Given the description of an element on the screen output the (x, y) to click on. 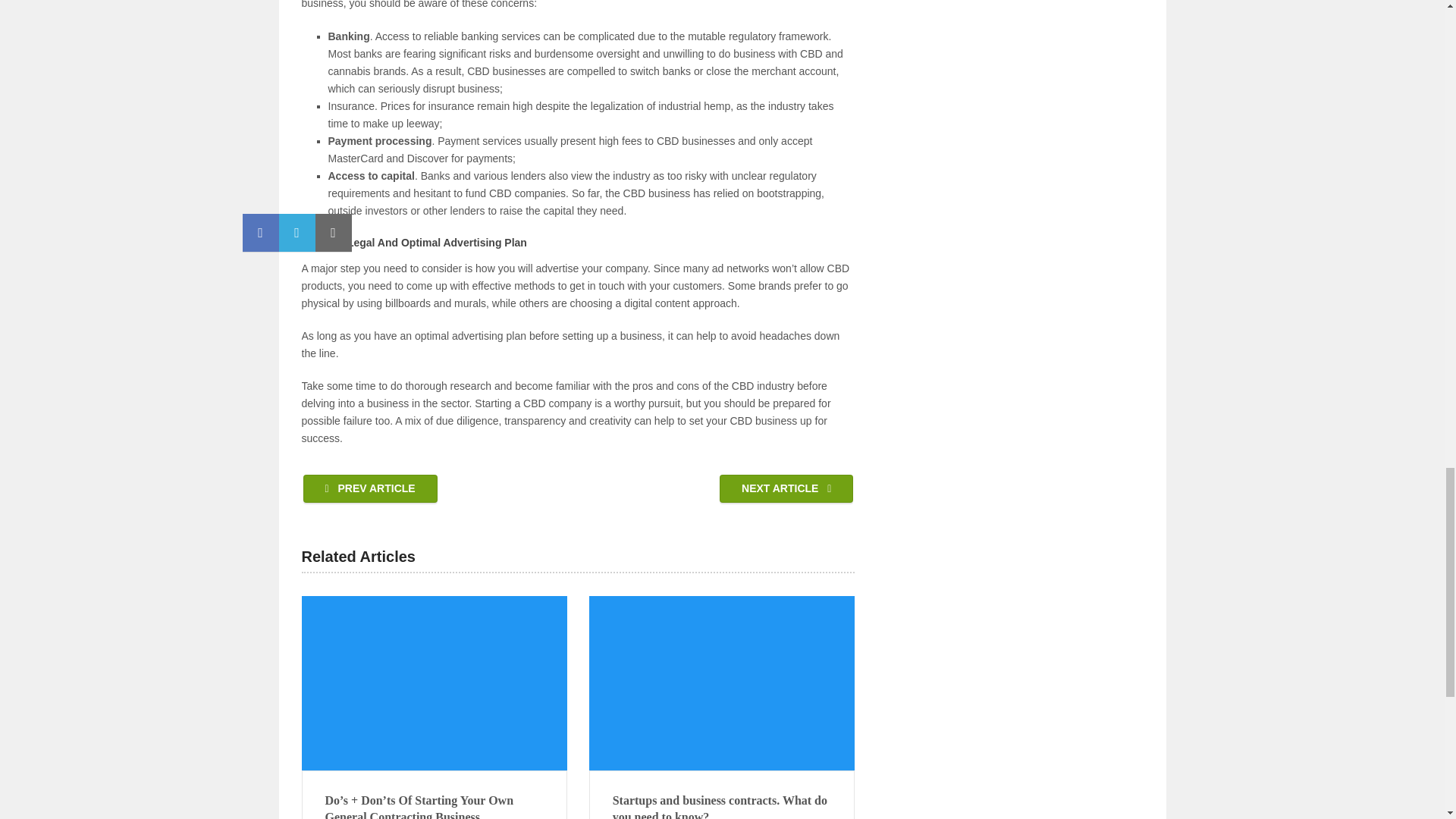
Startups and business contracts. What do you need to know? (721, 683)
Startups and business contracts. What do you need to know? (721, 805)
PREV ARTICLE (370, 488)
Startups and business contracts. What do you need to know? (721, 805)
NEXT ARTICLE (786, 488)
